Given the description of an element on the screen output the (x, y) to click on. 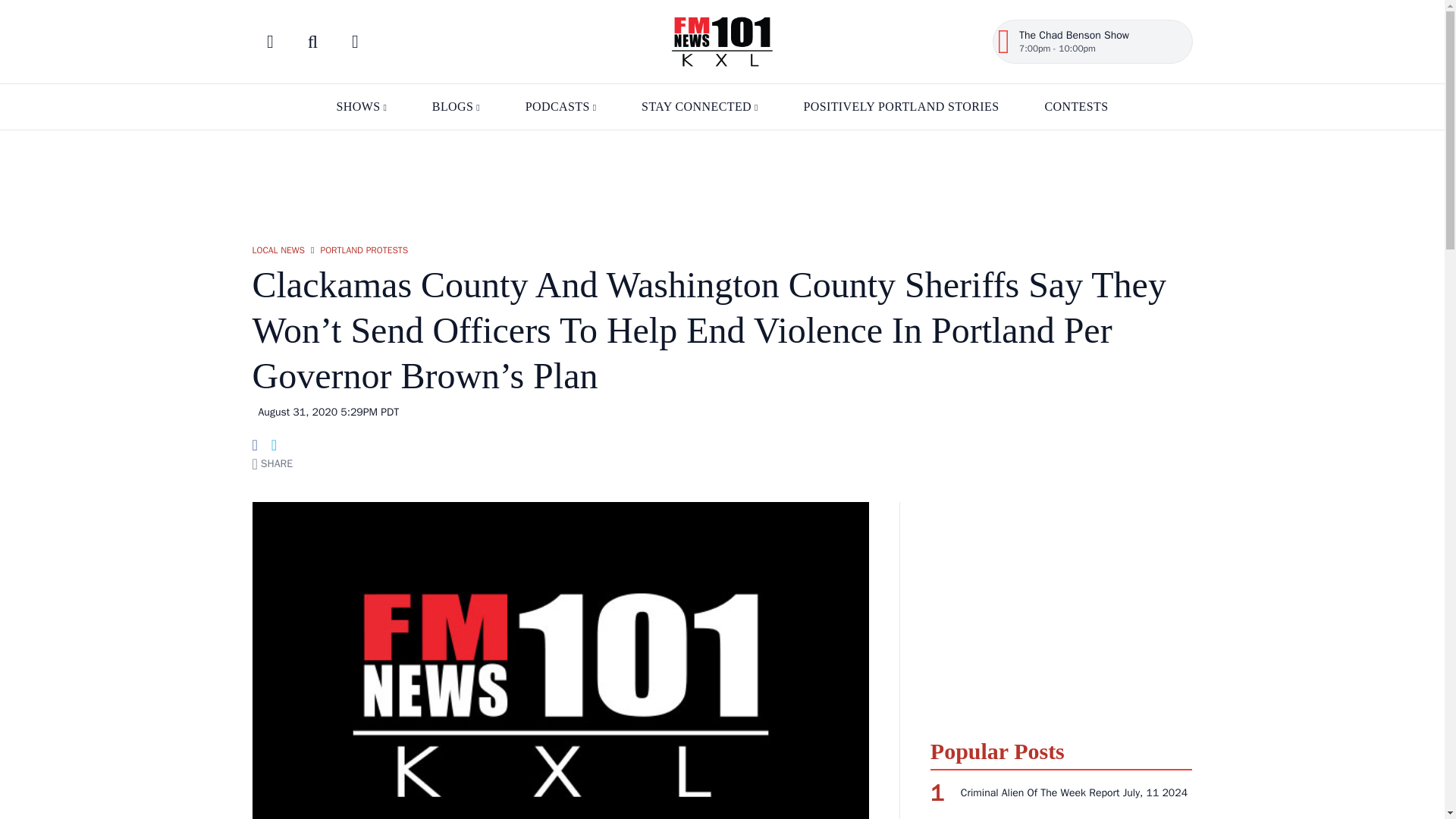
3rd party ad content (721, 179)
3rd party ad content (1060, 611)
